Given the description of an element on the screen output the (x, y) to click on. 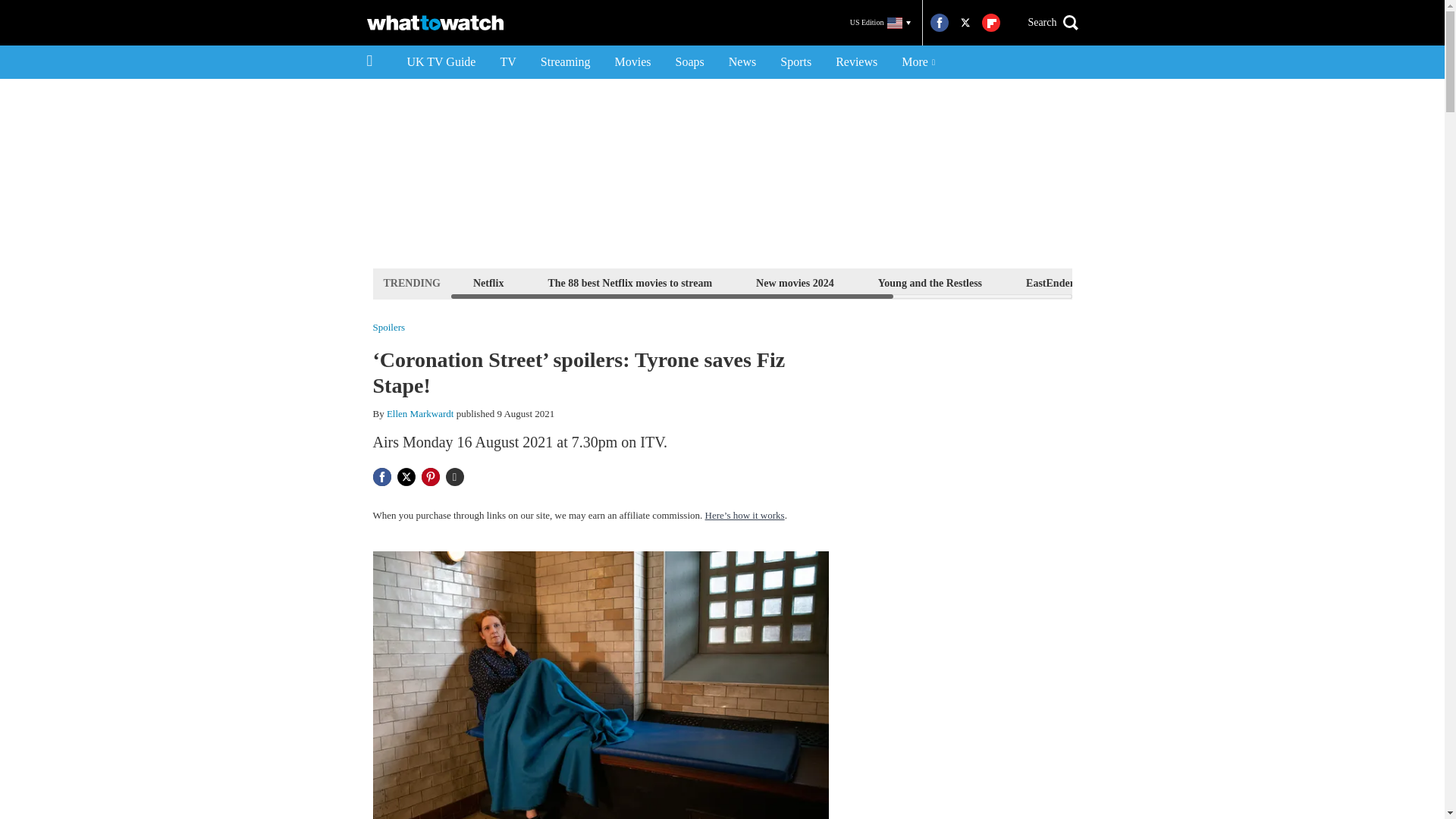
EastEnders (1051, 282)
Soaps (689, 61)
UK TV Guide (440, 61)
Movies (632, 61)
Sports (796, 61)
Emmerdale (1148, 282)
Netflix (487, 282)
TV (507, 61)
US Edition (880, 22)
Reviews (856, 61)
